Given the description of an element on the screen output the (x, y) to click on. 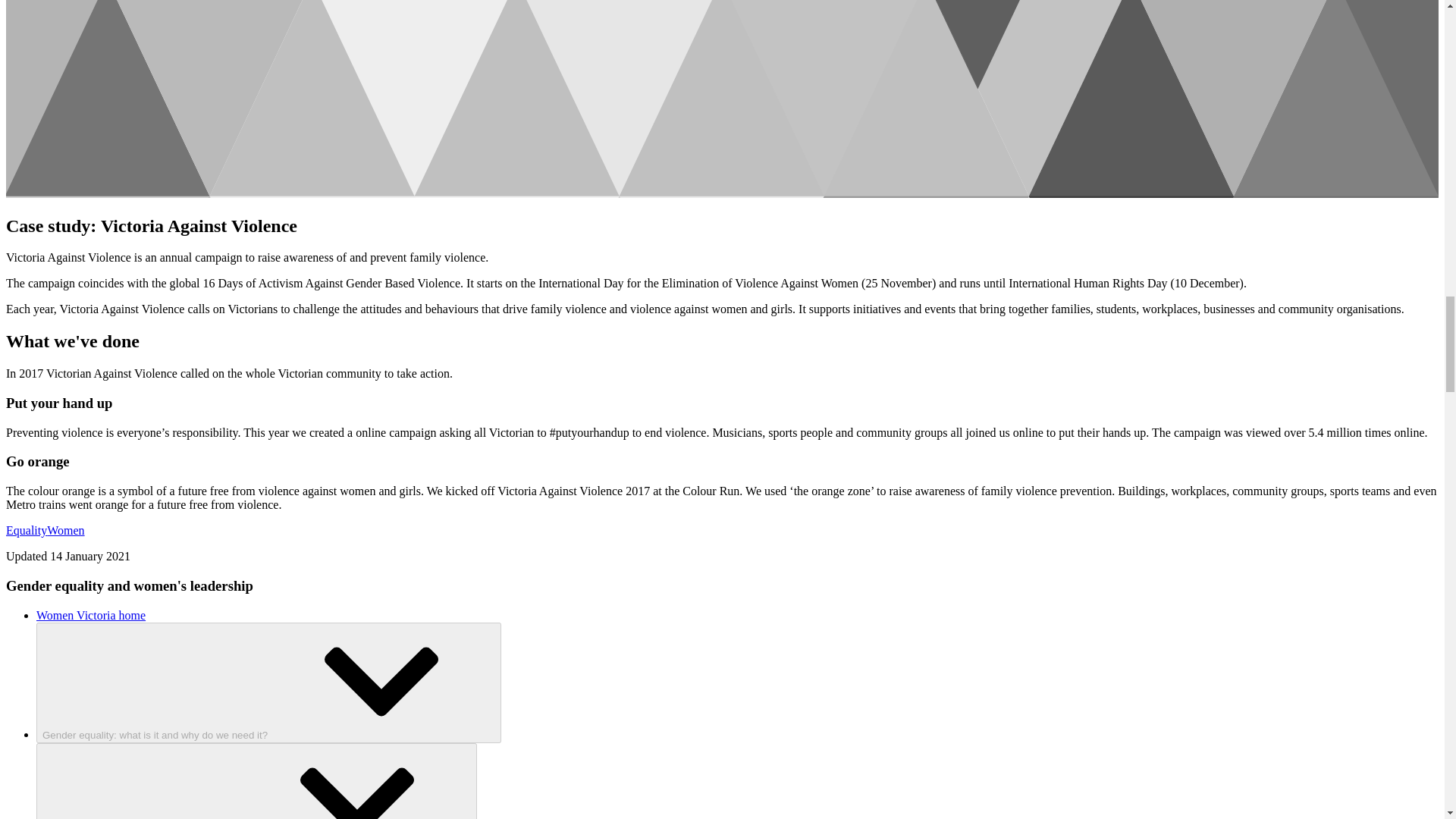
What we're doing to promote gender equality (256, 780)
Women (65, 530)
Gender equality: what is it and why do we need it? (268, 682)
Women Victoria home (90, 615)
Equality (25, 530)
